Given the description of an element on the screen output the (x, y) to click on. 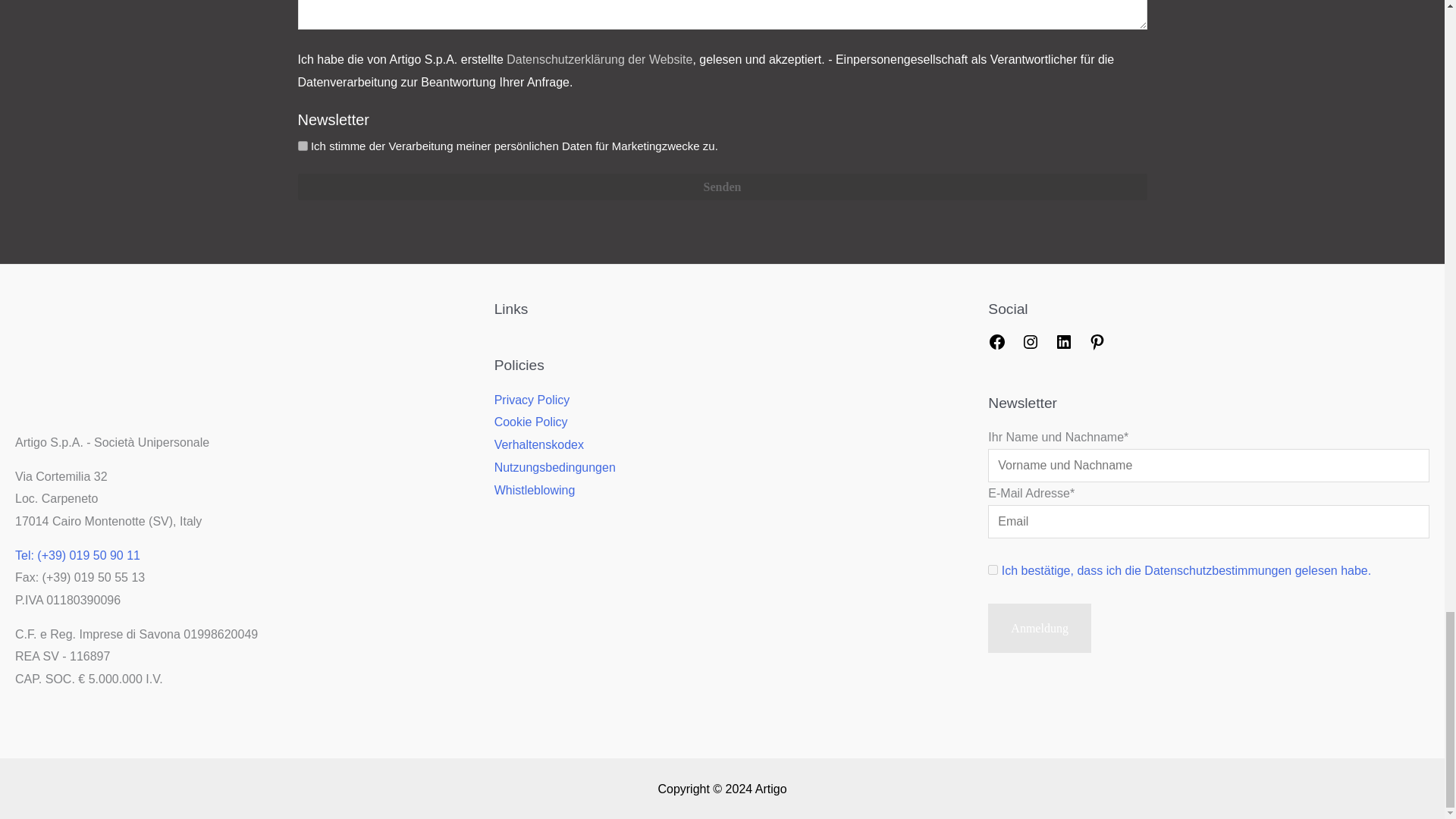
Senden (722, 186)
1 (992, 569)
Anmeldung (1039, 628)
